Given the description of an element on the screen output the (x, y) to click on. 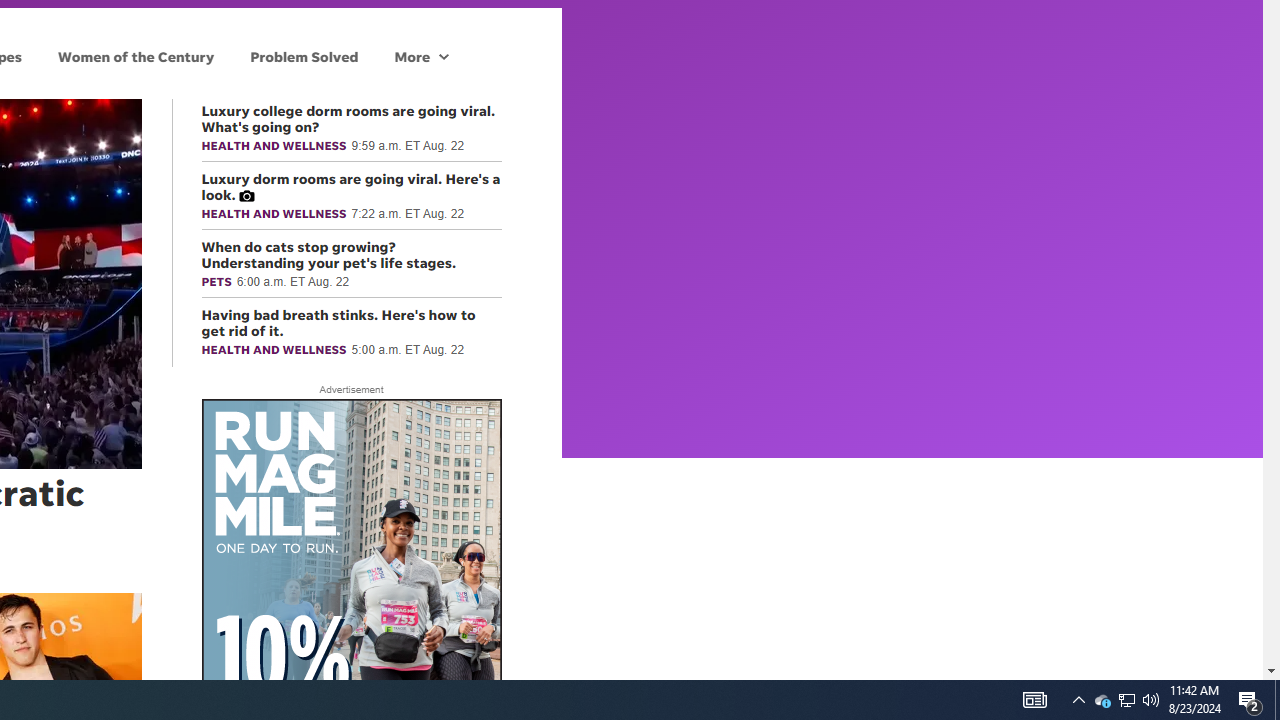
Women of the Century (136, 56)
Problem Solved (304, 56)
More life navigation (421, 56)
